Given the description of an element on the screen output the (x, y) to click on. 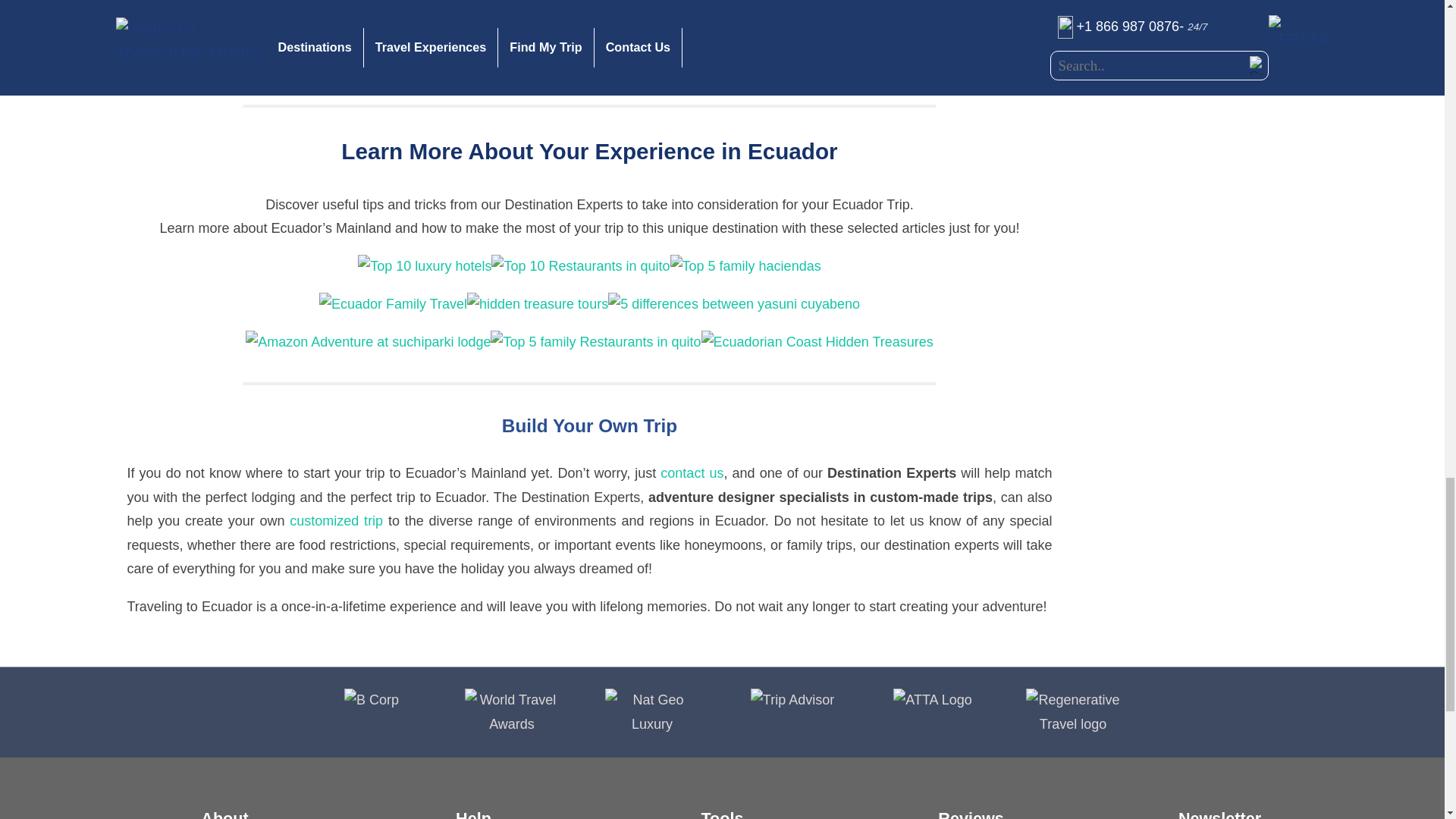
Ecuador Family Travel: Top 5 Destinations to Visit with Kids (392, 304)
Galapagos Islands Hotels (903, 64)
TOP 15 LUXURY HOTELS IN ECUADOR (425, 265)
Top 10 Restaurants in Quito (580, 265)
Top 5 Family Haciendas around Quito for a Weekend Getaway (745, 265)
Hidden Treasure Tours (537, 304)
